Given the description of an element on the screen output the (x, y) to click on. 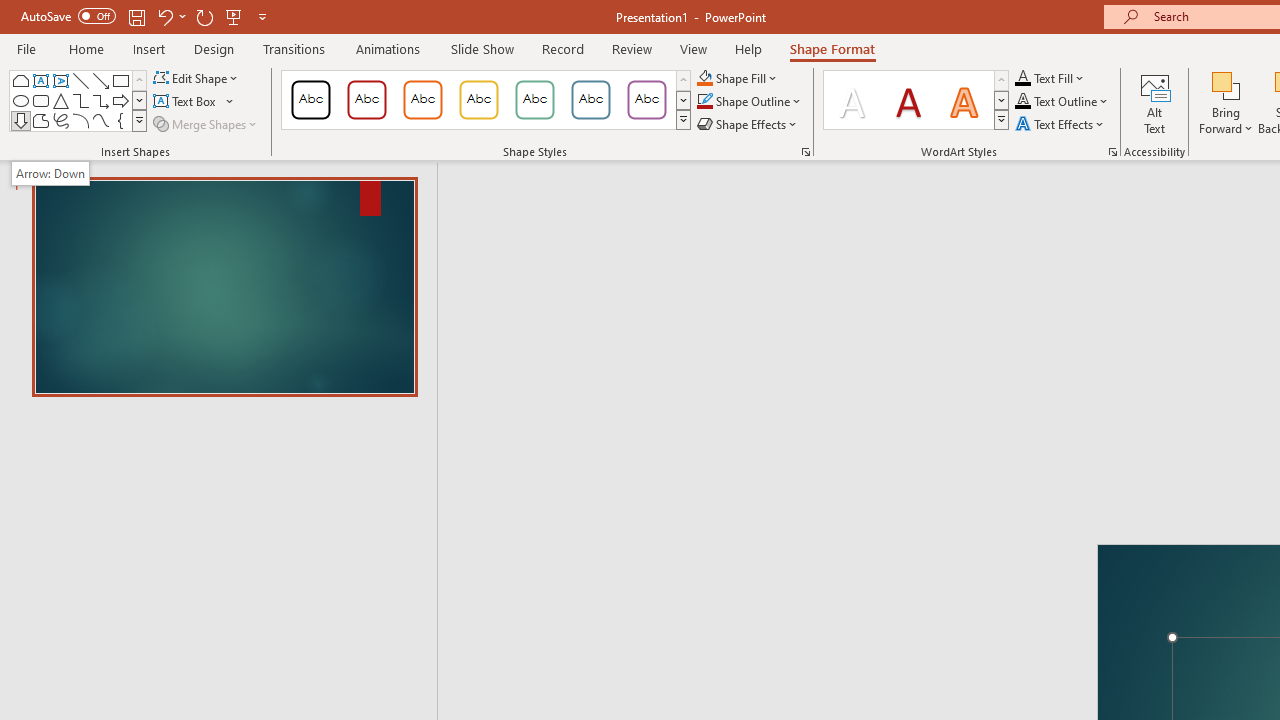
Line Arrow (100, 80)
Fill: White, Text color 1; Shadow (852, 100)
Arrow: Right (120, 100)
Draw Horizontal Text Box (185, 101)
Text Effects (1061, 124)
Shape Format (832, 48)
Bring Forward (1225, 84)
Arrow: Down (20, 120)
Shape Outline (749, 101)
